Given the description of an element on the screen output the (x, y) to click on. 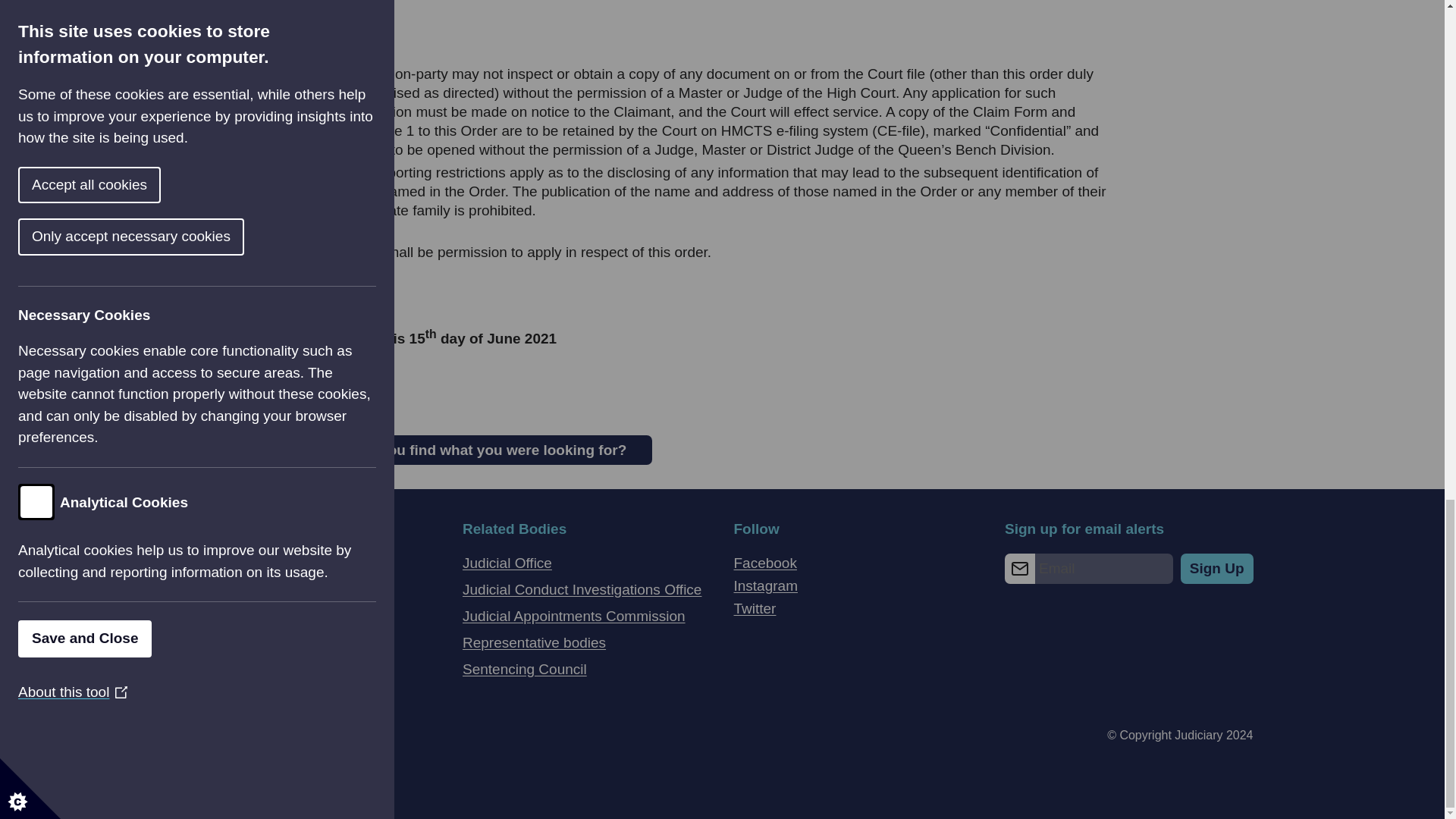
Sign Up (1216, 568)
